Given the description of an element on the screen output the (x, y) to click on. 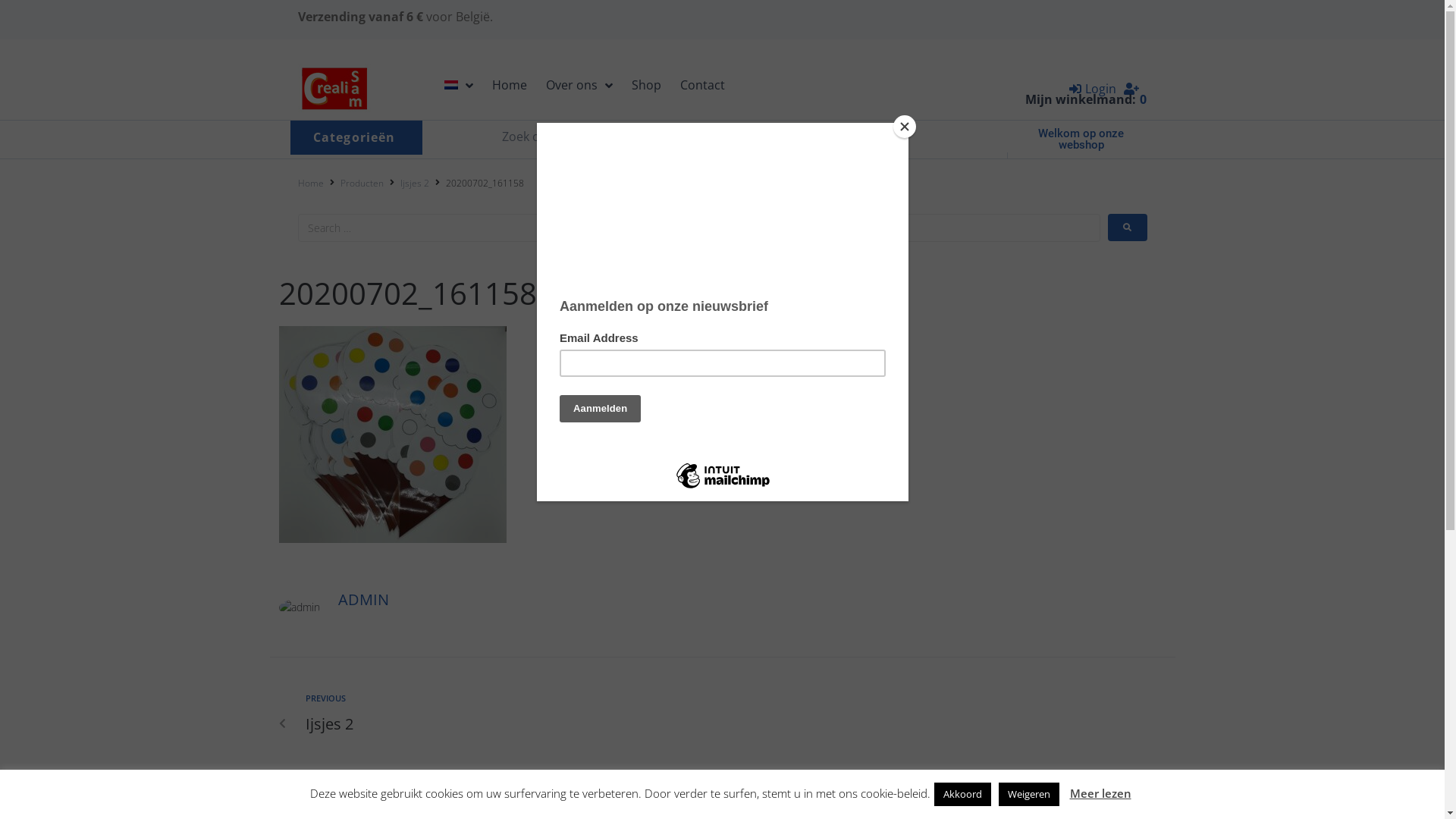
Shop Element type: text (646, 85)
Home Element type: text (509, 85)
Contact Element type: text (702, 85)
Producten Element type: text (360, 182)
Meer lezen Element type: text (1099, 792)
Login Element type: text (1092, 89)
PREVIOUS
Ijsjes 2 Element type: text (507, 713)
Weigeren Element type: text (1027, 794)
ADMIN Element type: text (363, 599)
Home Element type: text (310, 182)
Welkom op onze webshop Element type: text (1080, 139)
Over ons Element type: text (579, 85)
Ijsjes 2 Element type: text (414, 182)
Akkoord Element type: text (962, 794)
